Given the description of an element on the screen output the (x, y) to click on. 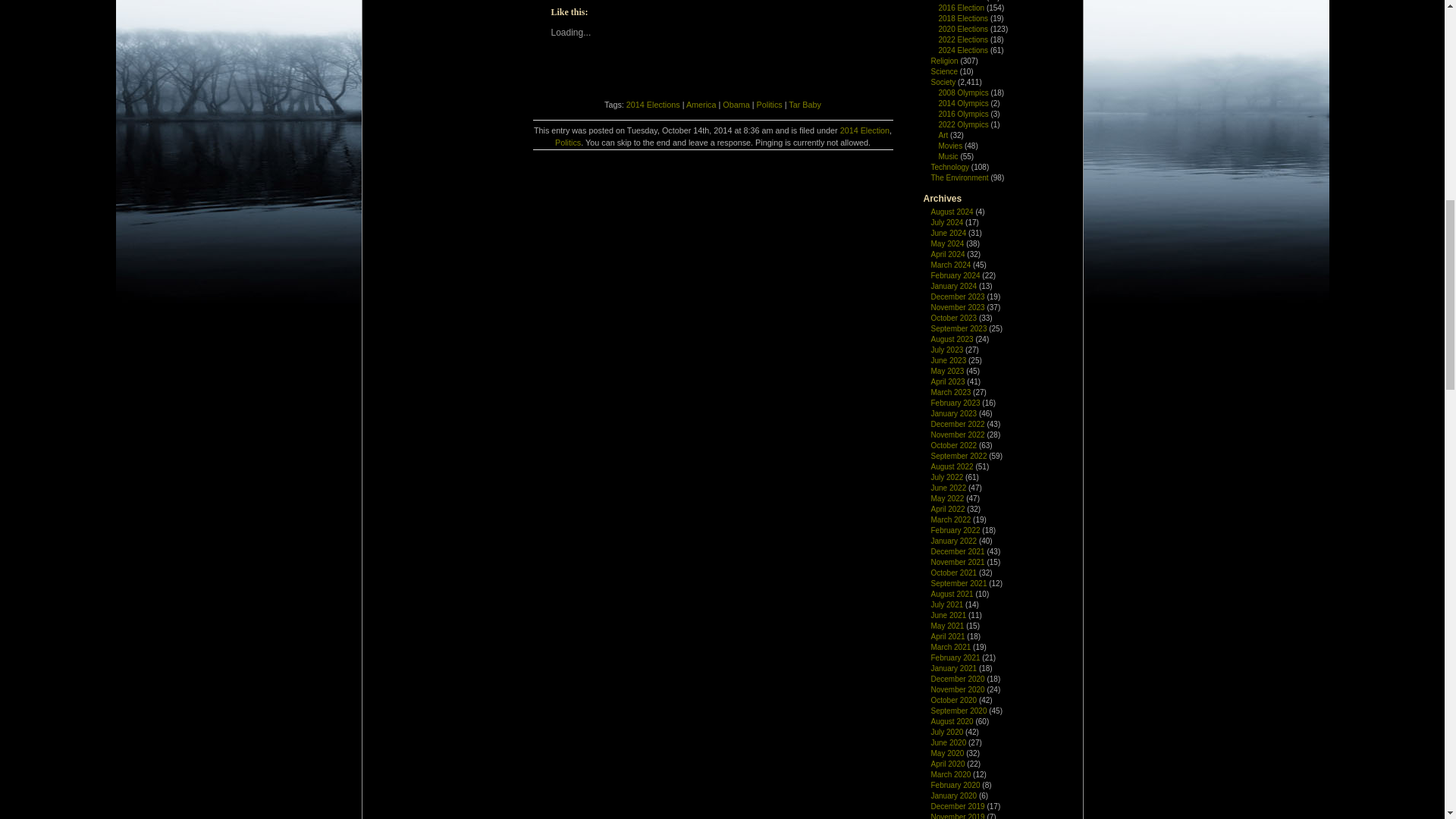
2014 Elections (652, 103)
America (700, 103)
